Given the description of an element on the screen output the (x, y) to click on. 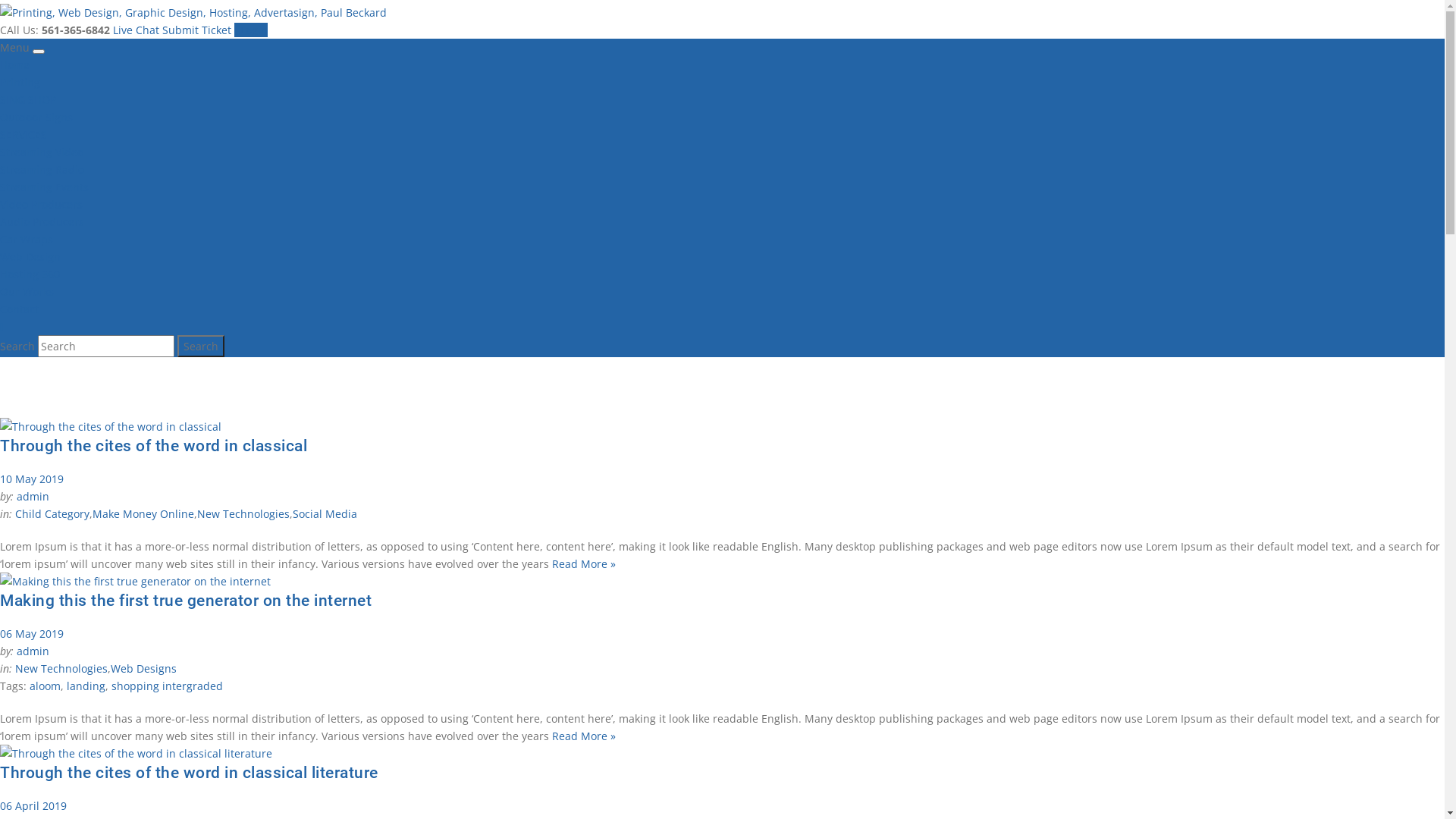
Search Element type: text (200, 346)
Audio Producers Element type: text (42, 221)
Live Chat Element type: text (137, 29)
Printing Element type: text (20, 82)
Outdoor Signs Element type: text (36, 116)
admin Element type: text (32, 650)
  Login Element type: text (250, 29)
Video Producers Element type: text (41, 204)
Home Element type: text (14, 64)
Streaming Video Element type: text (41, 151)
New Technologies Element type: text (61, 668)
Streaming Events Element type: text (44, 186)
Through the cites of the word in classical Element type: text (153, 445)
Social Media Element type: text (324, 513)
SERVICES Element type: text (23, 134)
Contact Element type: text (19, 308)
06 April 2019 Element type: text (33, 805)
Make Money Online Element type: text (143, 513)
New Technologies Element type: text (243, 513)
Continue read: Through the cites of the word in classical Element type: hover (110, 426)
Through the cites of the word in classical literature Element type: text (189, 772)
shopping intergraded Element type: text (166, 685)
Making this the first true generator on the internet Element type: text (185, 600)
Car Wraps Element type: text (26, 239)
Web Design Element type: text (30, 256)
10 May 2019 Element type: text (31, 478)
Streaming Radio Element type: text (42, 169)
06 May 2019 Element type: text (31, 633)
Submit Ticket Element type: text (198, 29)
Our Works Element type: text (26, 291)
Child Category Element type: text (52, 513)
admin Element type: text (32, 496)
Web Designs Element type: text (143, 668)
landing Element type: text (85, 685)
SING SHOP Element type: text (28, 99)
aloom Element type: text (44, 685)
Hosting 360 Element type: text (29, 273)
